Given the description of an element on the screen output the (x, y) to click on. 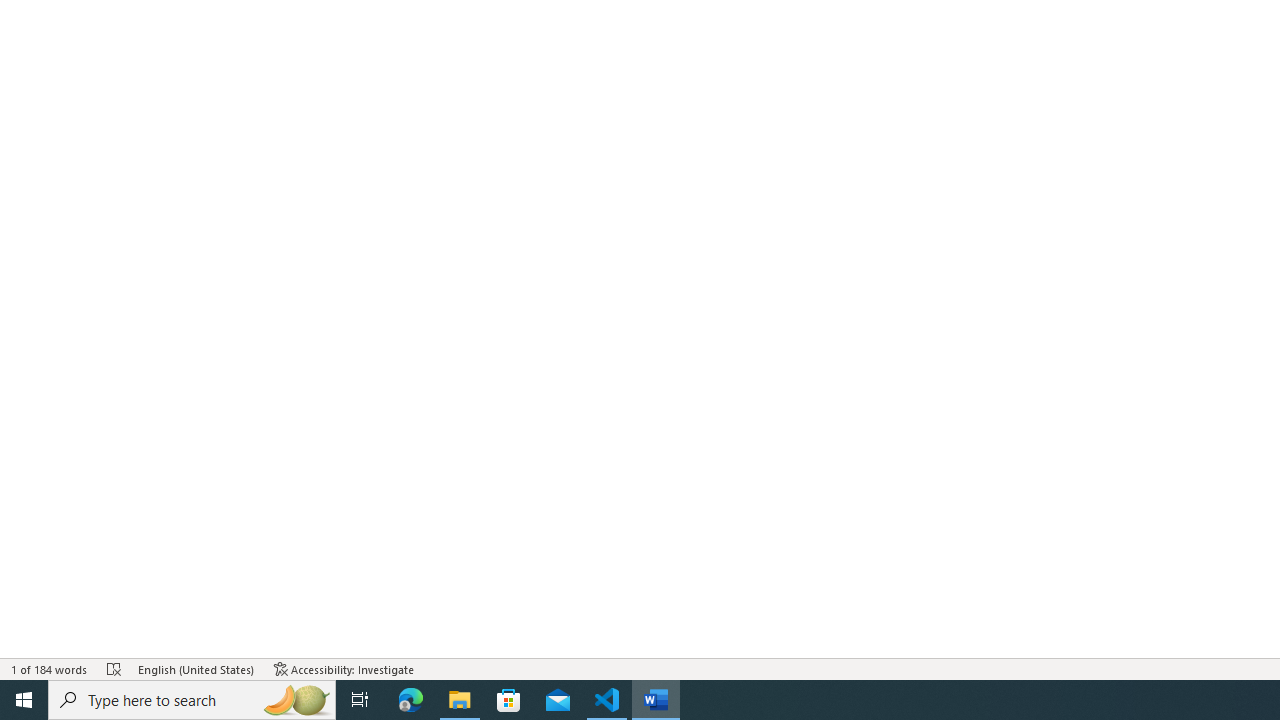
Spelling and Grammar Check Errors (114, 668)
Word Count 1 of 184 words (49, 668)
